Given the description of an element on the screen output the (x, y) to click on. 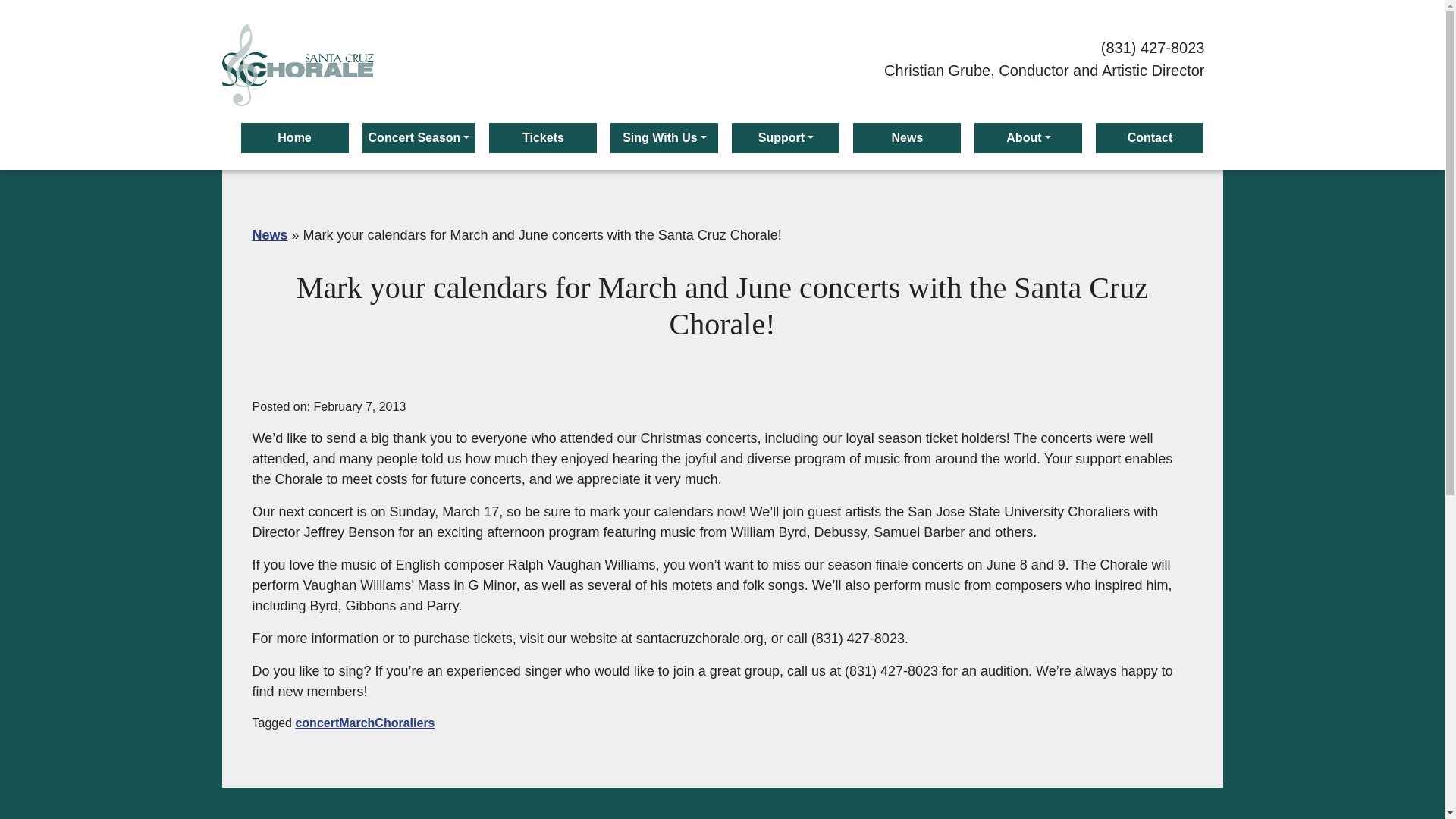
Tickets (542, 137)
Support (786, 137)
Sing With Us (663, 137)
Contact (1150, 137)
About (1027, 137)
The Santa Cruz Chorale (296, 65)
Home (295, 137)
News (268, 234)
Buy Tickets to Santa Cruz Chorale concerts at purplepass (542, 137)
concertMarchChoraliers (364, 722)
